Given the description of an element on the screen output the (x, y) to click on. 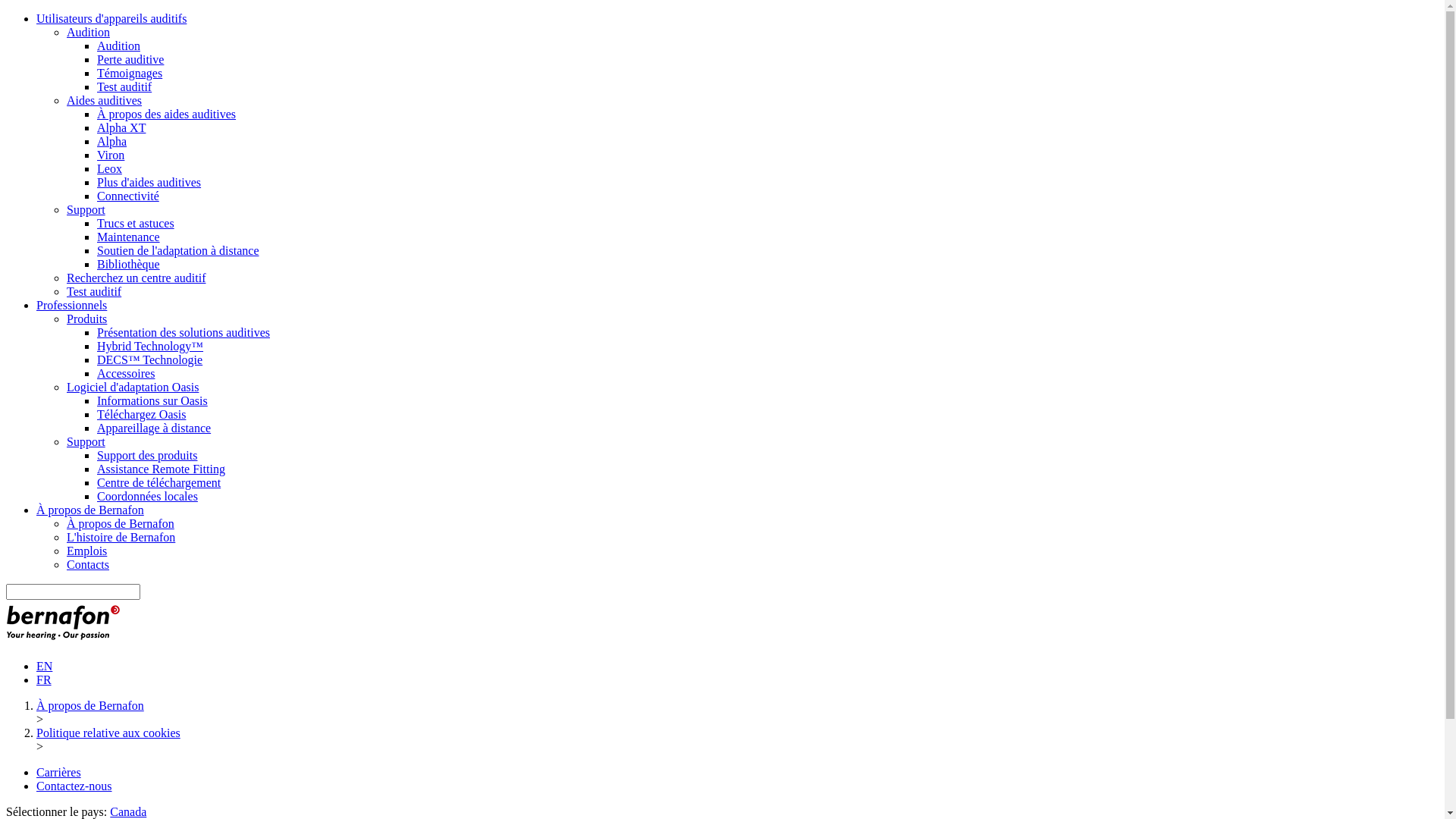
Maintenance Element type: text (128, 236)
Alpha XT Element type: text (121, 127)
Trucs et astuces Element type: text (135, 222)
Test auditif Element type: text (93, 291)
Canada Element type: text (127, 811)
Produits Element type: text (86, 318)
Alpha Element type: text (111, 140)
L'histoire de Bernafon Element type: text (120, 536)
Recherchez un centre auditif Element type: text (135, 277)
EN Element type: text (44, 665)
Audition Element type: text (118, 45)
Aides auditives Element type: text (103, 100)
FR Element type: text (43, 679)
Support Element type: text (85, 209)
Assistance Remote Fitting Element type: text (161, 468)
Audition Element type: text (87, 31)
Perte auditive Element type: text (130, 59)
Contactez-nous Element type: text (74, 785)
Support Element type: text (85, 441)
Emplois Element type: text (86, 550)
Politique relative aux cookies Element type: text (108, 732)
Plus d'aides auditives Element type: text (148, 181)
Support des produits Element type: text (147, 454)
Test auditif Element type: text (124, 86)
Viron Element type: text (110, 154)
Leox Element type: text (109, 168)
Accessoires Element type: text (125, 373)
Informations sur Oasis Element type: text (152, 400)
Logiciel d'adaptation Oasis Element type: text (132, 386)
Utilisateurs d'appareils auditifs Element type: text (111, 18)
Professionnels Element type: text (71, 304)
Contacts Element type: text (87, 564)
